Given the description of an element on the screen output the (x, y) to click on. 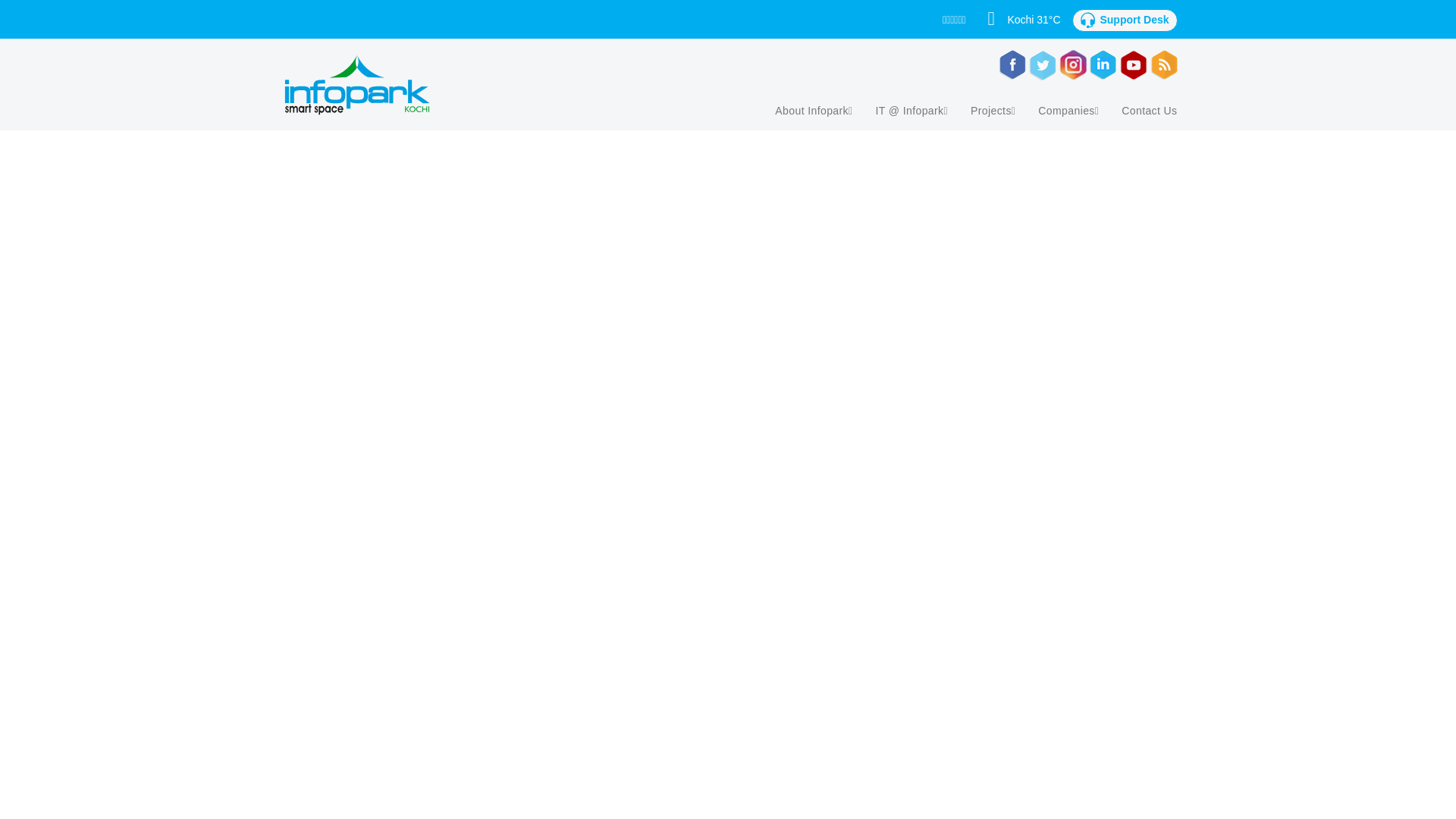
Infopark Companies Only (1124, 19)
RSS (1043, 64)
Linkedin (1133, 64)
Twitter (1012, 64)
Pinterest (1072, 64)
Support Desk (1124, 19)
Contact Us (1148, 110)
Flickr (1102, 64)
Facebook (1163, 64)
Projects (992, 110)
